Given the description of an element on the screen output the (x, y) to click on. 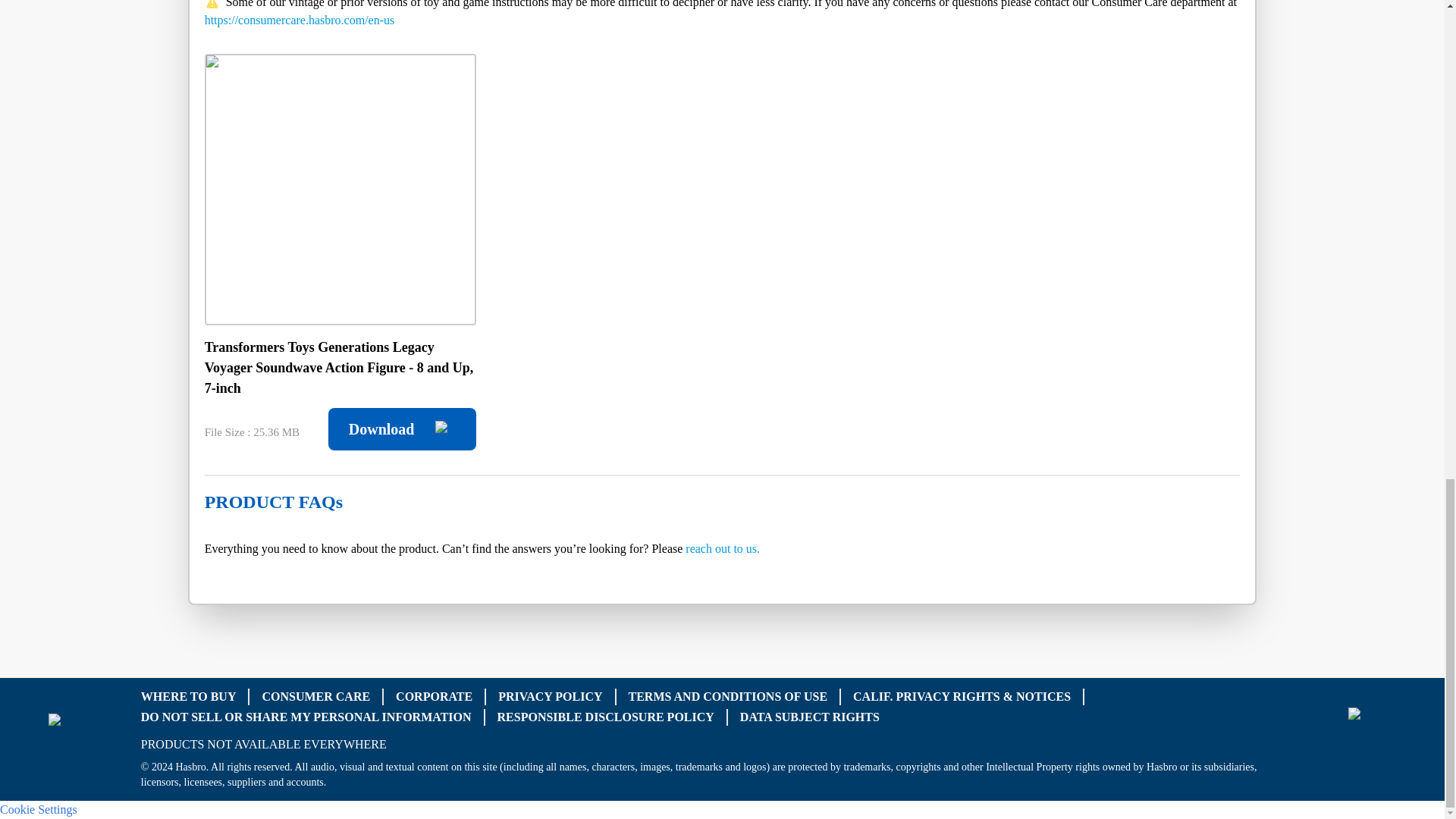
WHERE TO BUY (188, 696)
CORPORATE (433, 696)
DO NOT SELL OR SHARE MY PERSONAL INFORMATION (306, 716)
CONSUMER CARE (315, 696)
DATA SUBJECT RIGHTS (809, 716)
TERMS AND CONDITIONS OF USE (727, 696)
RESPONSIBLE DISCLOSURE POLICY (605, 716)
Download (402, 428)
reach out to us. (722, 548)
PRIVACY POLICY (549, 696)
